Given the description of an element on the screen output the (x, y) to click on. 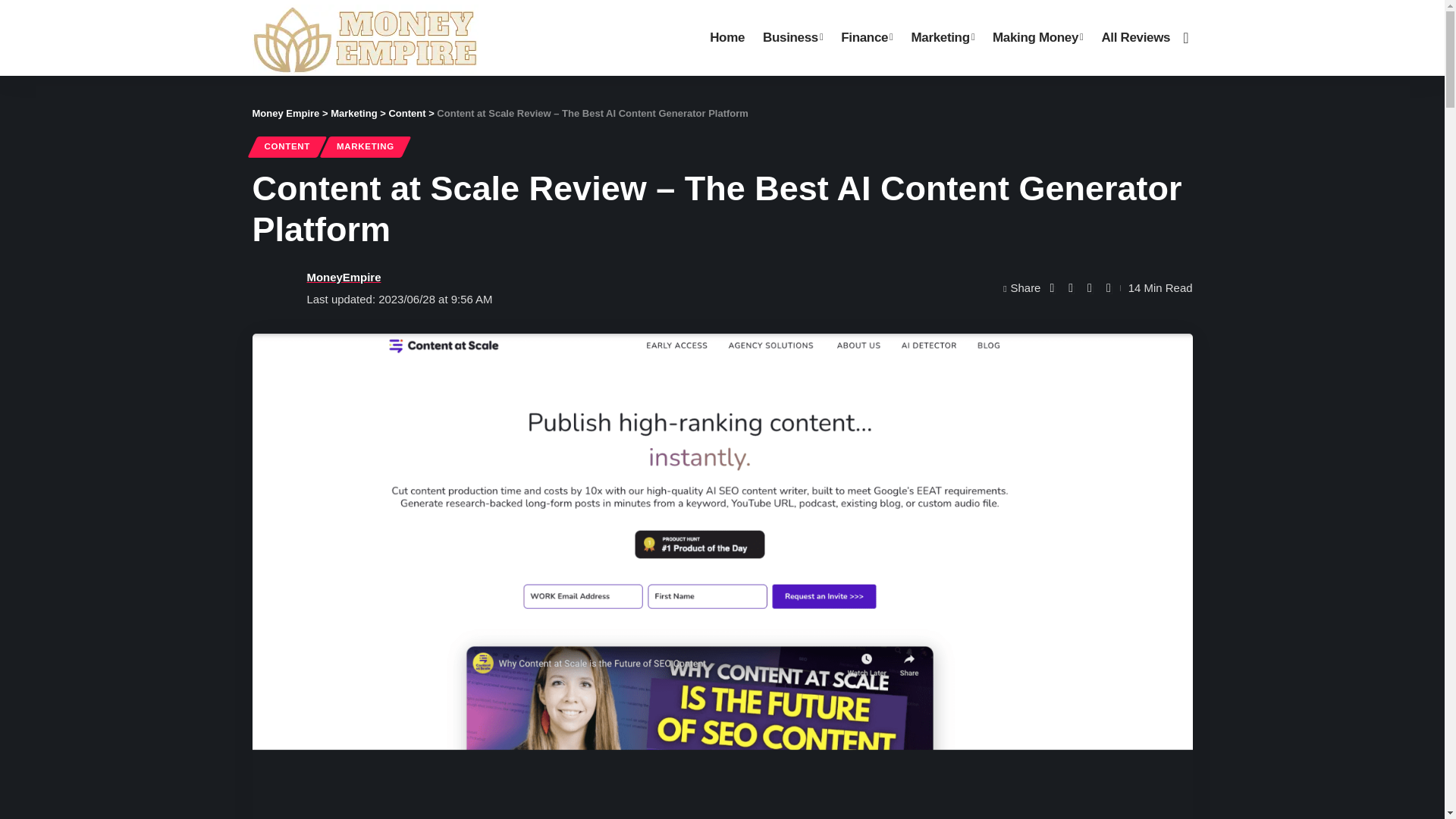
Marketing (942, 38)
Go to Money Empire. (284, 112)
Finance (866, 38)
Go to the Marketing Category archives. (353, 112)
Making Money (1038, 38)
Money Empire (364, 37)
Business (792, 38)
All Reviews (1135, 38)
Go to the Content Category archives. (406, 112)
